Given the description of an element on the screen output the (x, y) to click on. 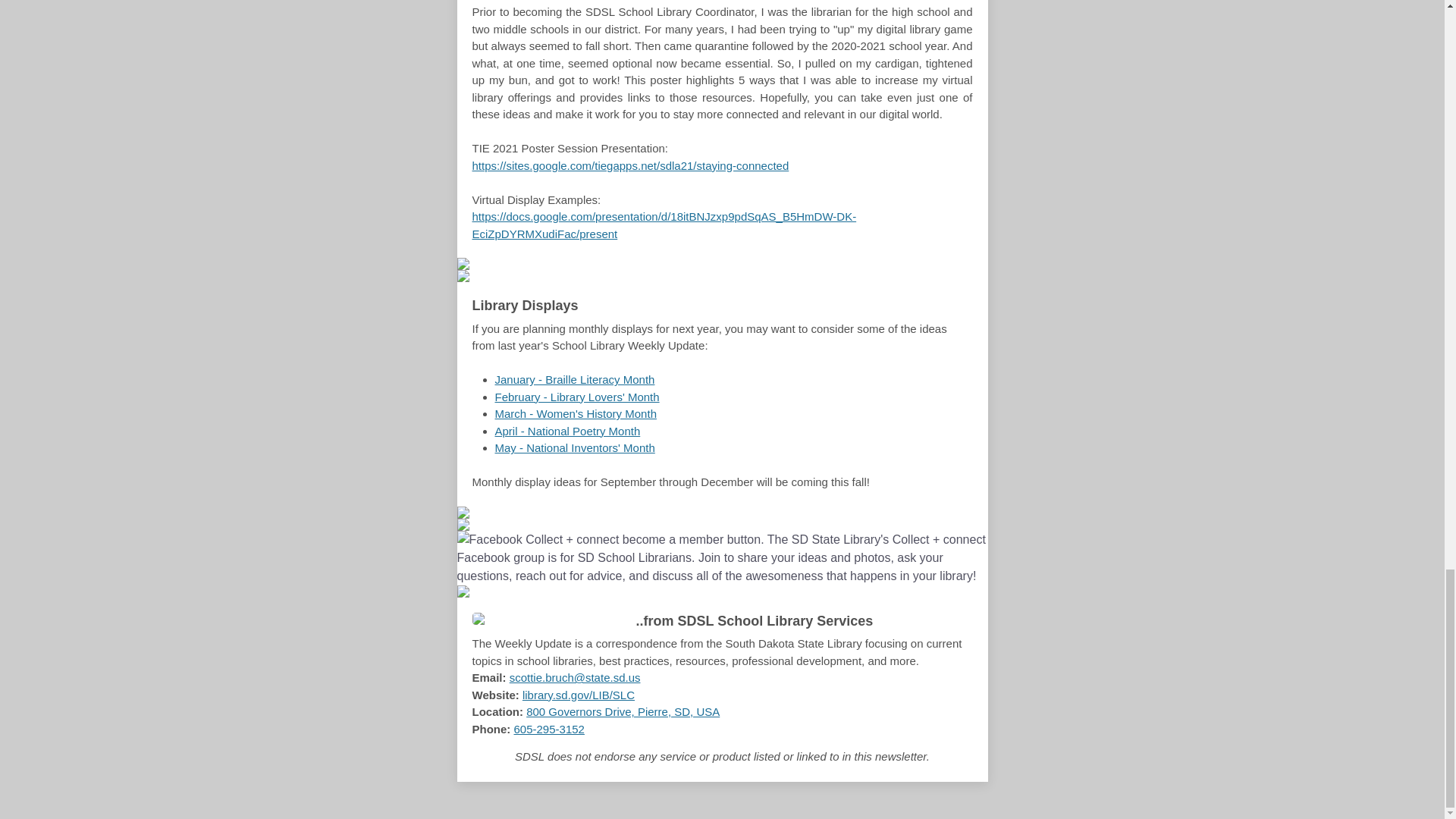
May - National Inventors' Month (574, 447)
800 Governors Drive, Pierre, SD, USA (622, 711)
March - Women's History Month (575, 413)
January - Braille Literacy Month (574, 379)
February - Library Lovers' Month (577, 396)
April - National Poetry Month (567, 431)
